Given the description of an element on the screen output the (x, y) to click on. 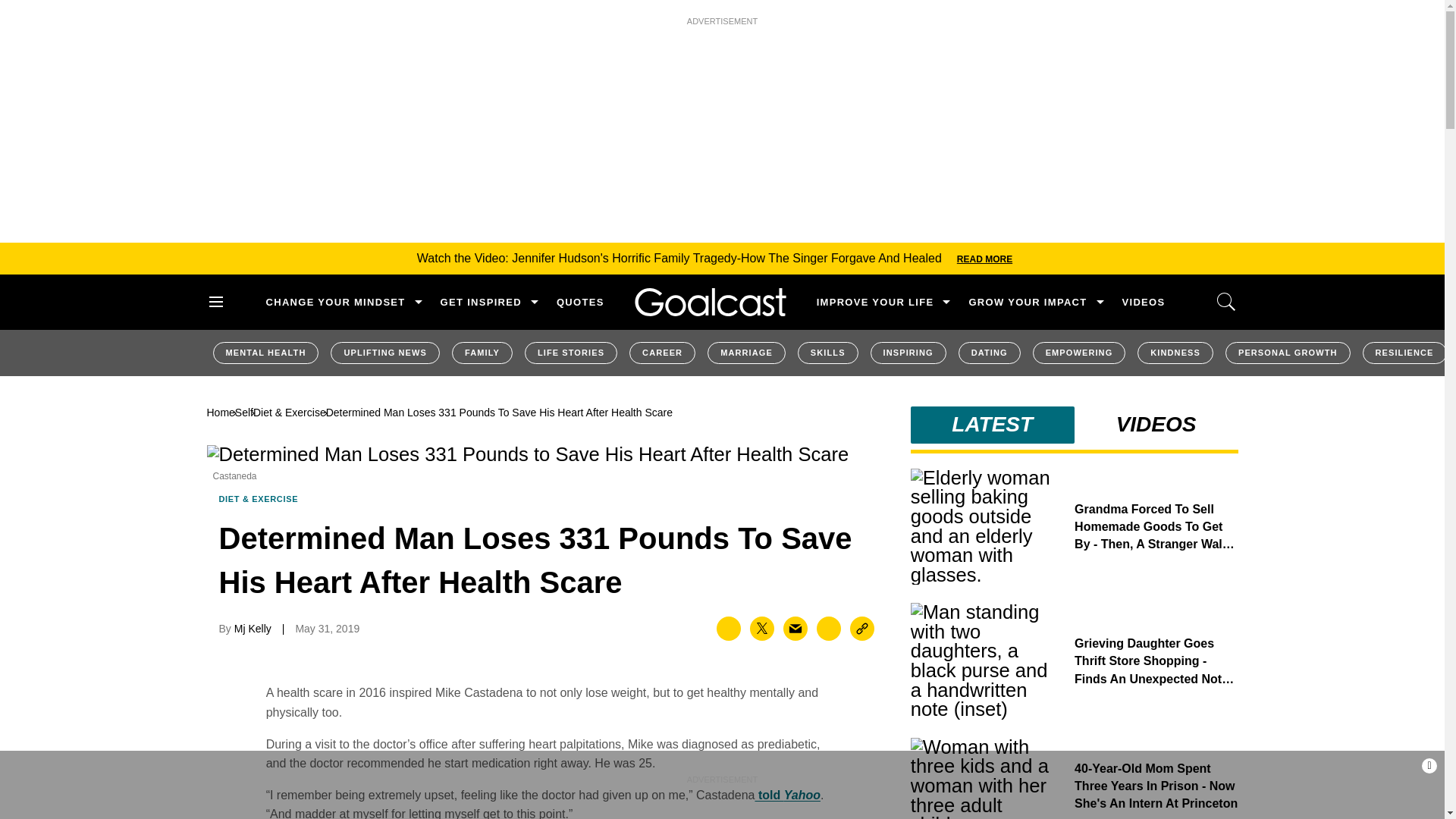
QUOTES (580, 301)
CHANGE YOUR MINDSET (334, 301)
GET INSPIRED (481, 301)
GROW YOUR IMPACT (1027, 301)
Copy this link to clipboard (862, 628)
VIDEOS (1144, 301)
IMPROVE YOUR LIFE (875, 301)
